Given the description of an element on the screen output the (x, y) to click on. 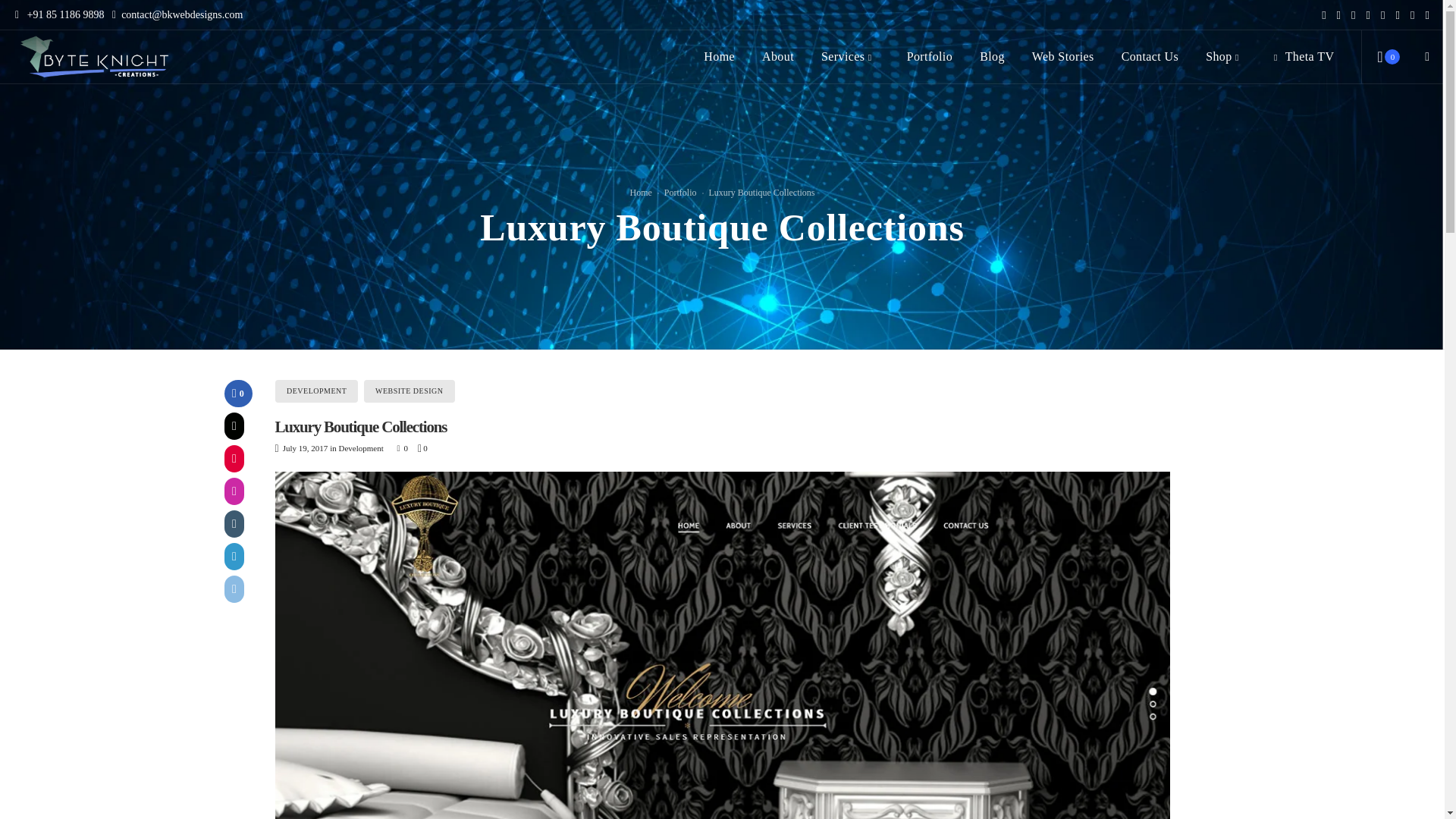
Facebook (1323, 15)
Search (1072, 413)
Google (1338, 15)
